Given the description of an element on the screen output the (x, y) to click on. 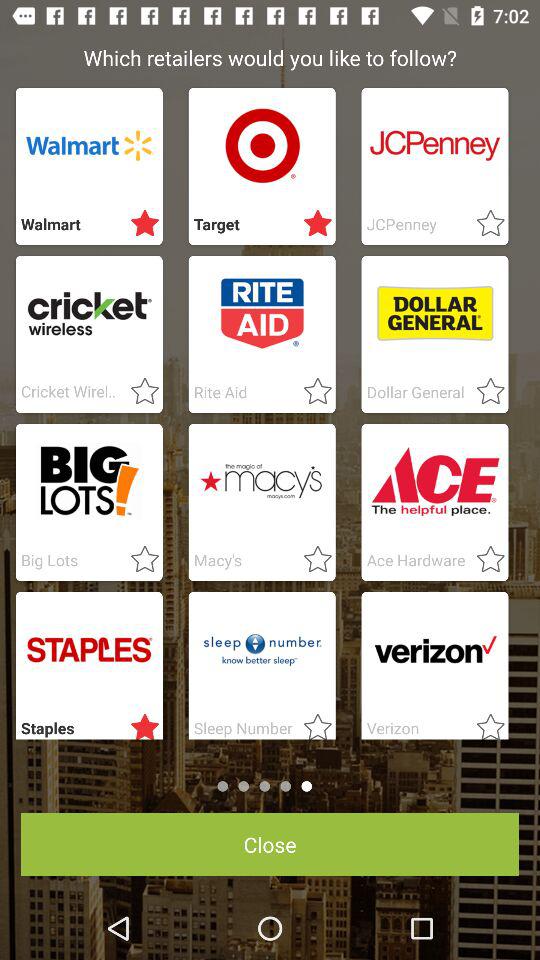
click favorite option (312, 560)
